Given the description of an element on the screen output the (x, y) to click on. 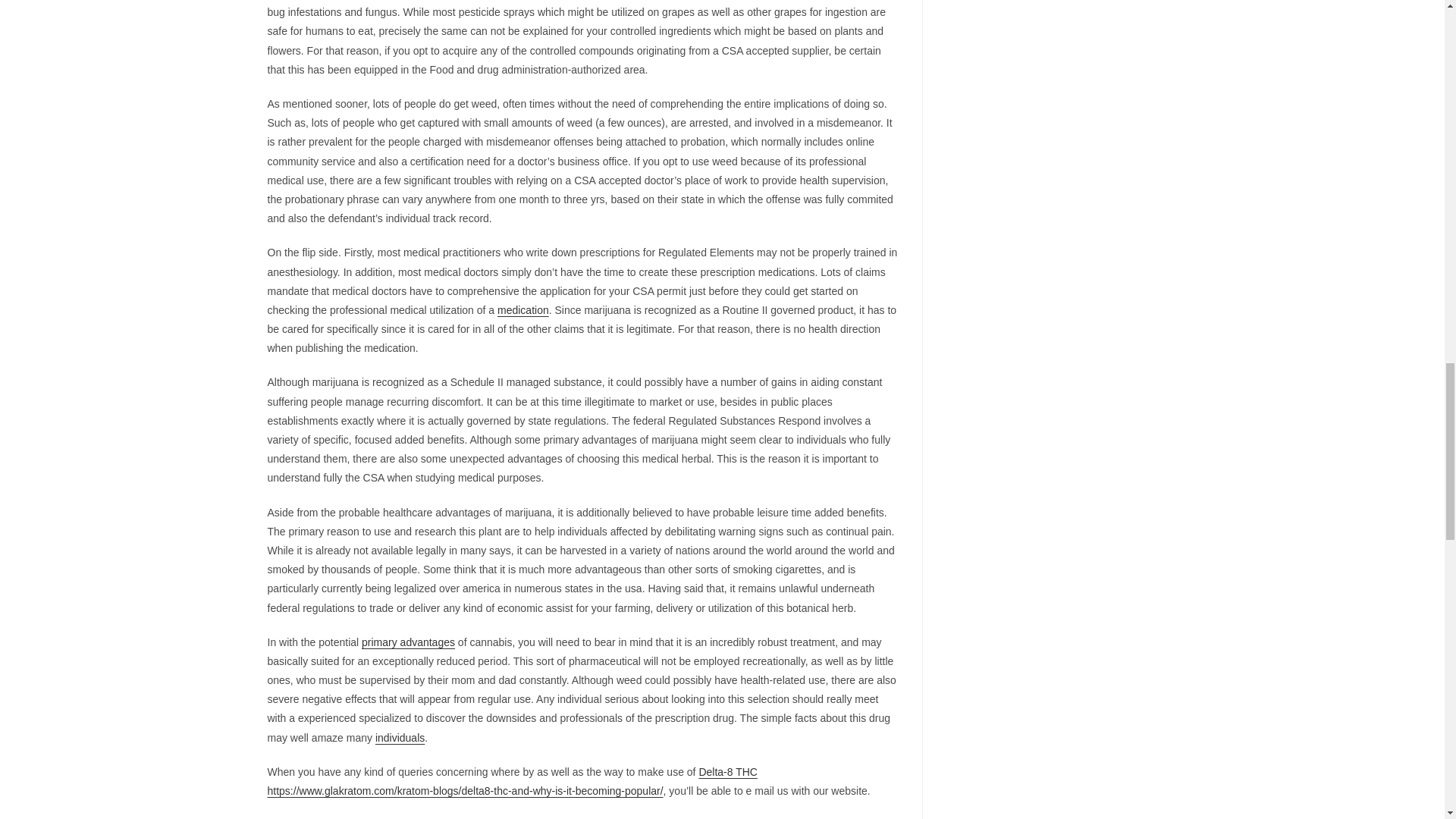
primary advantages (407, 642)
medication (522, 309)
individuals (400, 737)
